Given the description of an element on the screen output the (x, y) to click on. 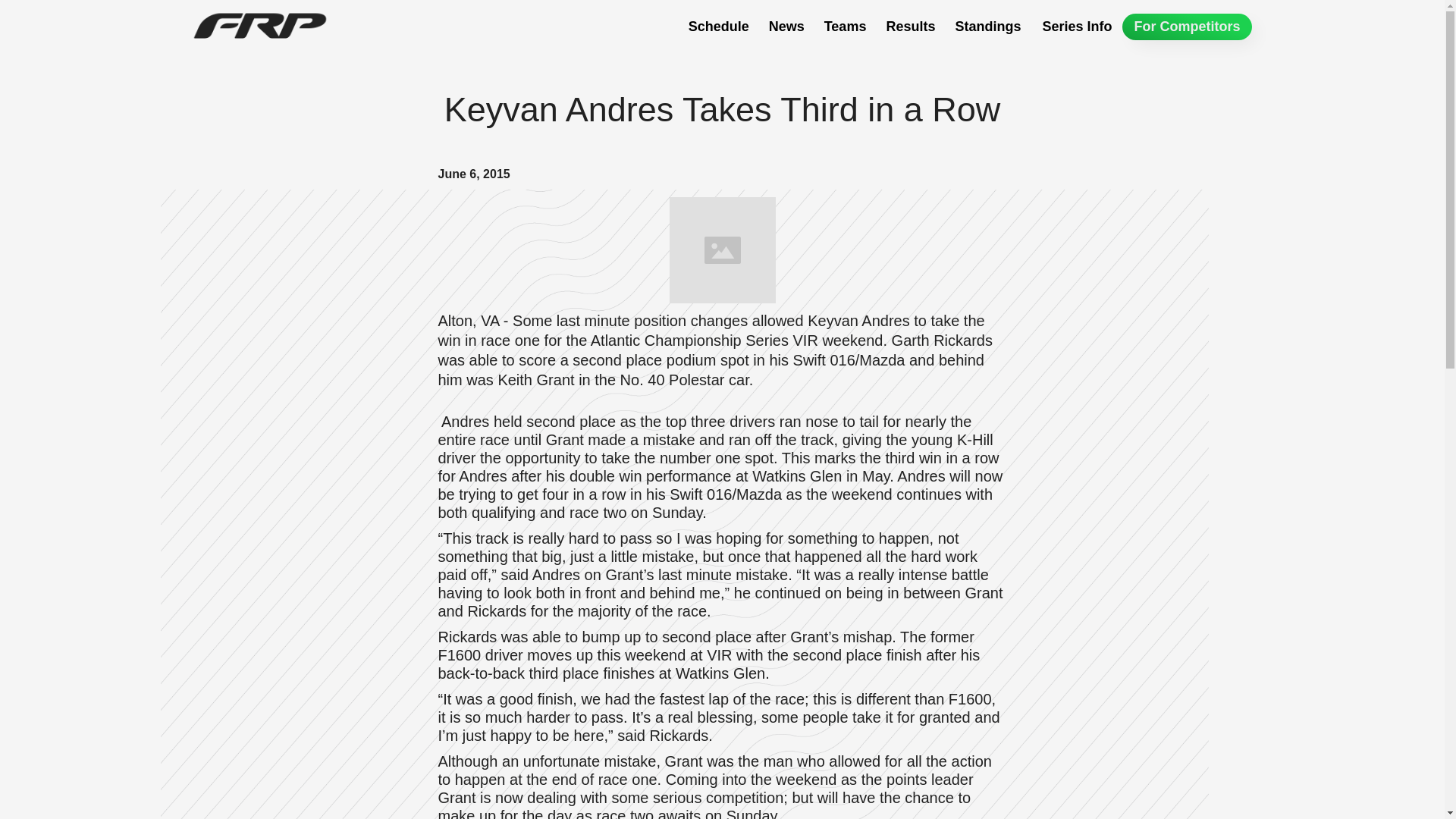
News (786, 26)
Standings (986, 26)
Schedule (718, 26)
